Given the description of an element on the screen output the (x, y) to click on. 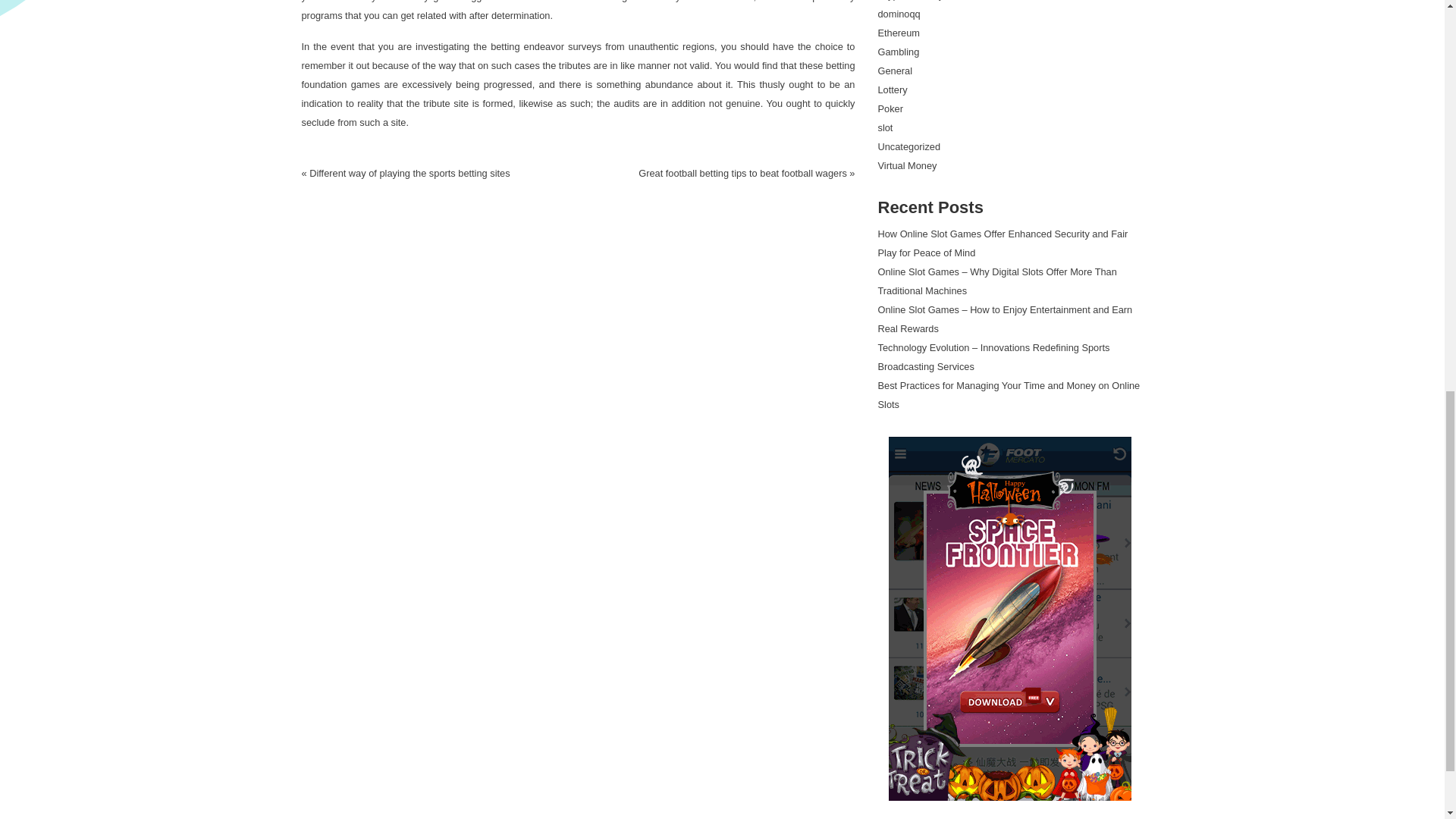
Gambling (898, 51)
slot (885, 127)
Uncategorized (908, 146)
Great football betting tips to beat football wagers (743, 173)
Virtual Money (907, 165)
dominoqq (898, 13)
Lottery (892, 89)
Cryptocurrency (910, 0)
